Given the description of an element on the screen output the (x, y) to click on. 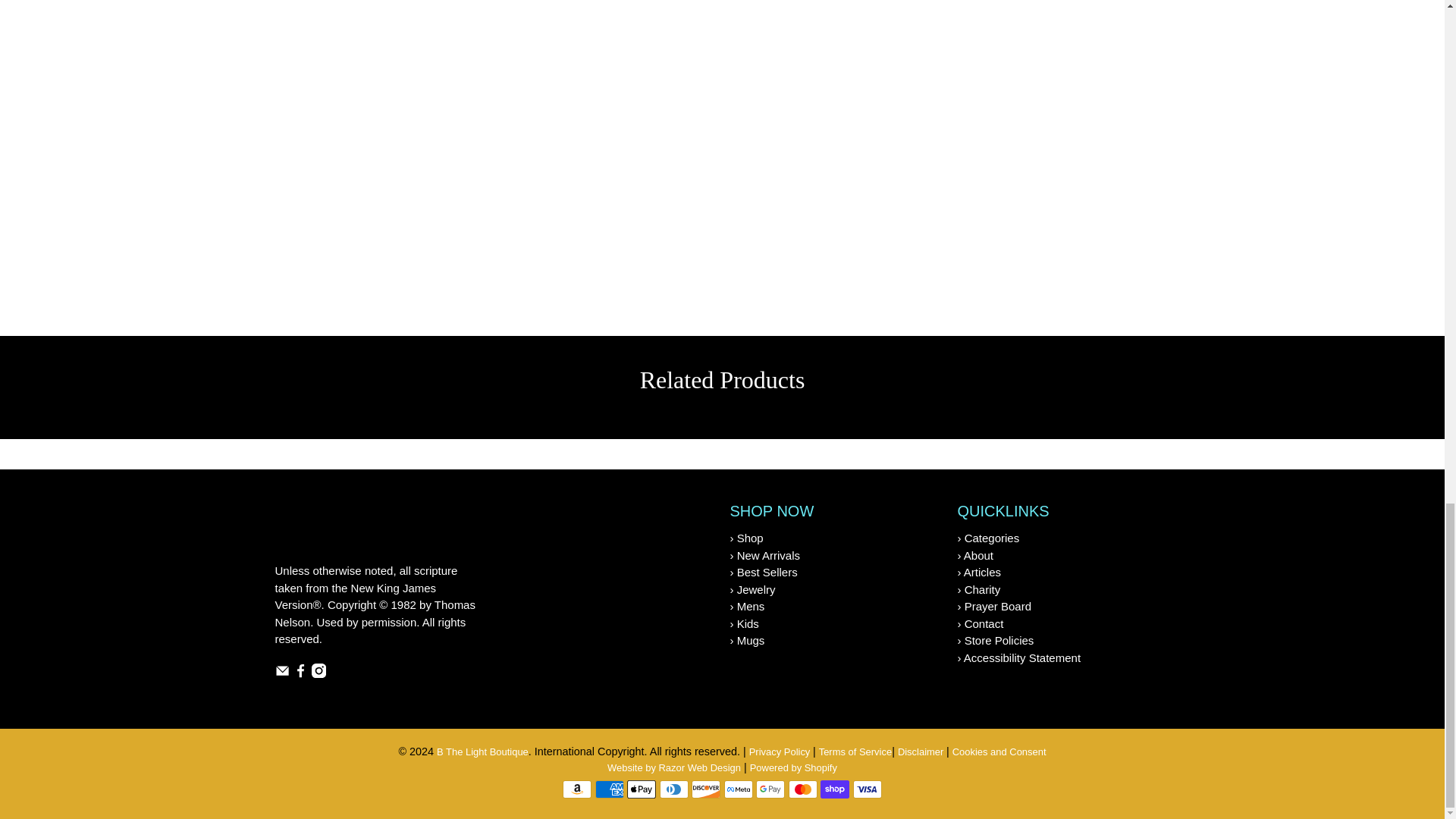
Disclaimer (922, 750)
Discover (705, 789)
Terms of Service (854, 750)
Shop Pay (834, 789)
B The Light Boutique on Facebook (300, 673)
B The Light Boutique (317, 530)
American Express (609, 789)
Mastercard (802, 789)
Google Pay (769, 789)
Email B The Light Boutique (281, 673)
